Given the description of an element on the screen output the (x, y) to click on. 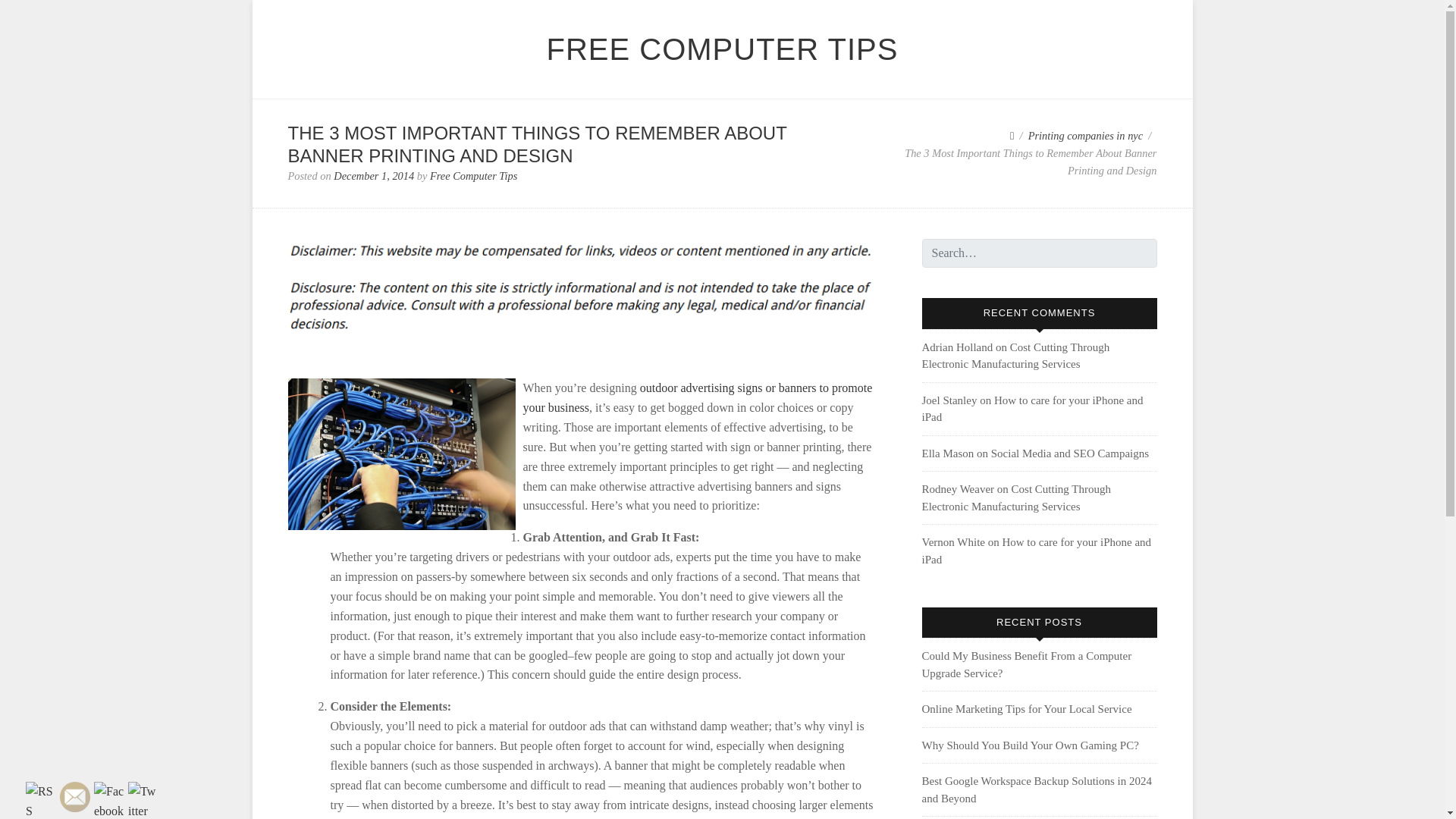
FREE COMPUTER TIPS (722, 49)
Best Google Workspace Backup Solutions in 2024 and Beyond (1037, 789)
Joel Stanley (948, 399)
Cost Cutting Through Electronic Manufacturing Services (1015, 497)
Why Should You Build Your Own Gaming PC? (1029, 745)
Printing companies in nyc (1084, 135)
Title (697, 397)
Online Marketing Tips for Your Local Service (1026, 708)
Follow by Email (74, 797)
